Given the description of an element on the screen output the (x, y) to click on. 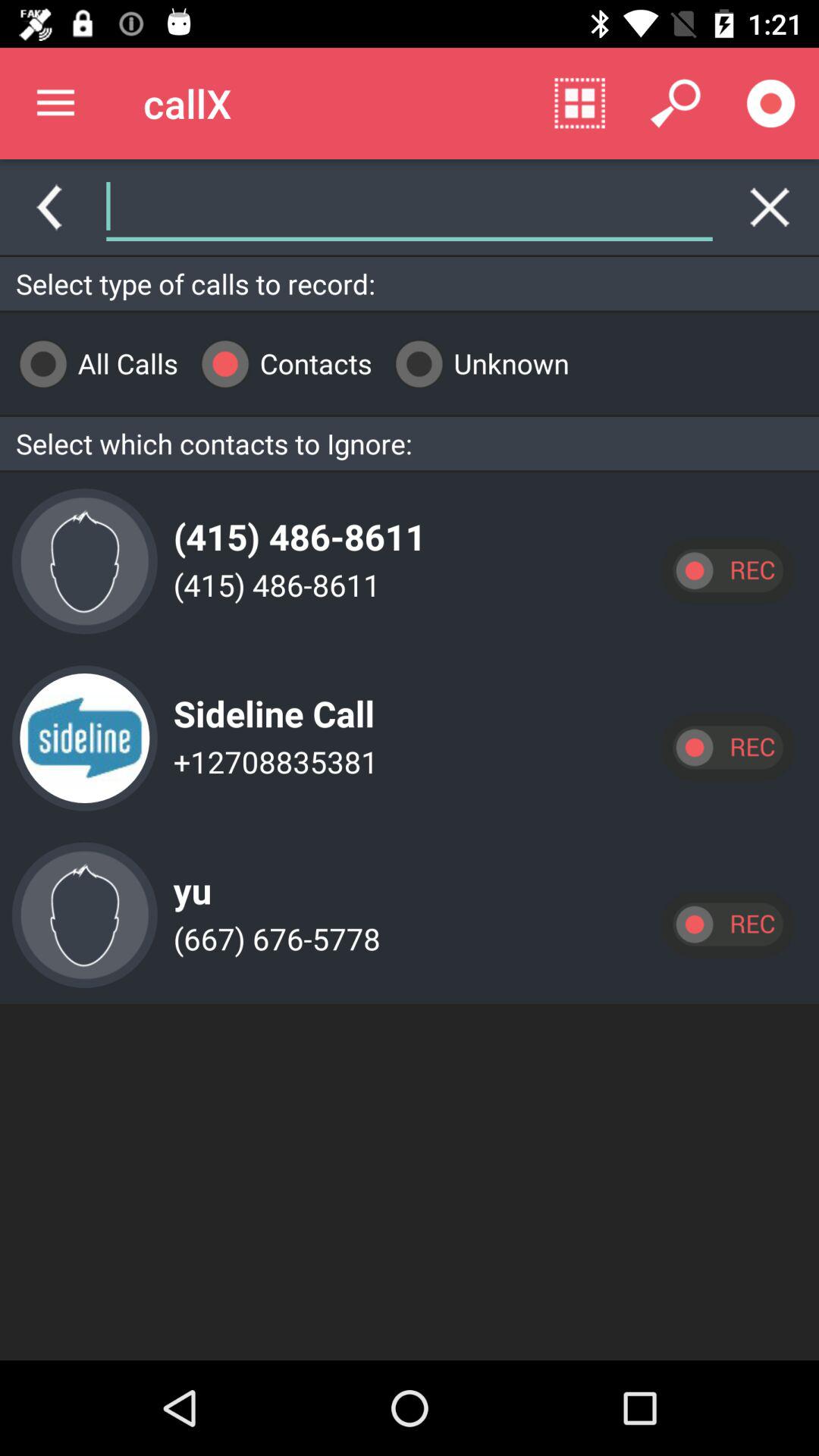
press filter app (571, 206)
